Given the description of an element on the screen output the (x, y) to click on. 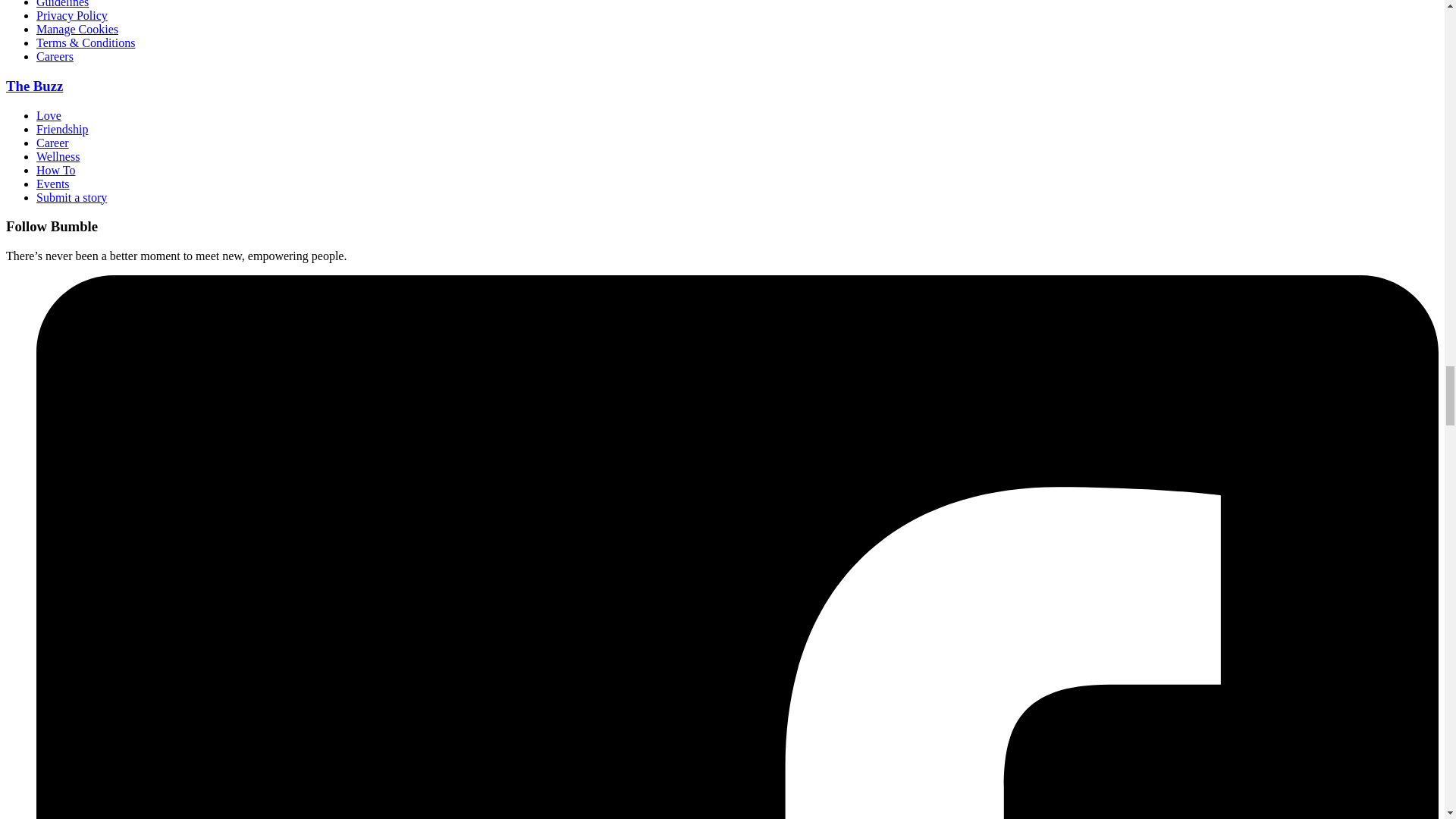
Submit a story (71, 196)
Career (52, 142)
Careers (55, 56)
Love (48, 115)
Guidelines (62, 4)
Manage Cookies (76, 29)
Guidelines (62, 4)
Career (52, 142)
Privacy Policy (71, 15)
Love (48, 115)
Privacy Policy (71, 15)
Friendship (61, 128)
Events (52, 183)
Friendship (61, 128)
The Buzz (33, 85)
